Given the description of an element on the screen output the (x, y) to click on. 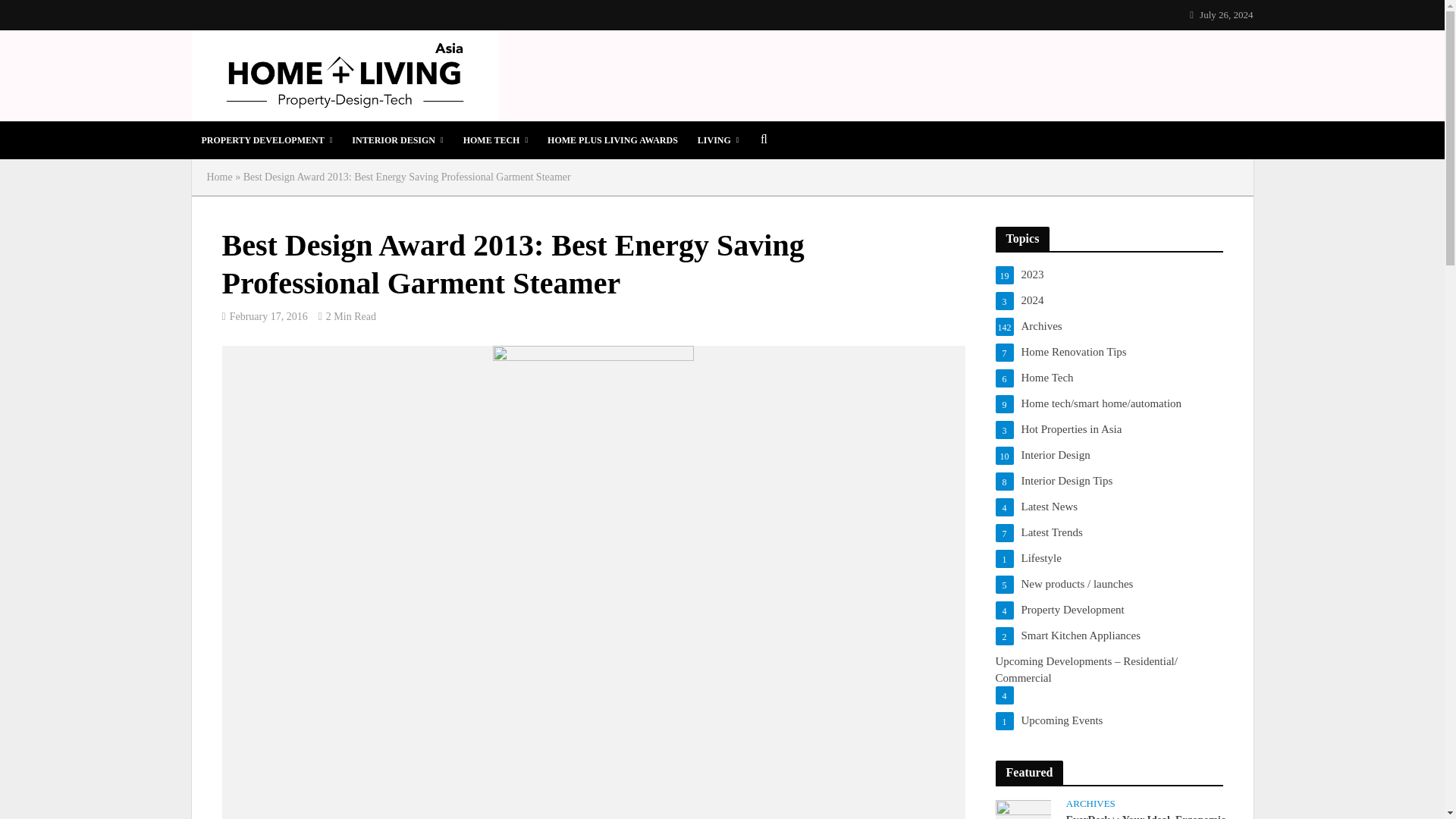
HOME PLUS LIVING AWARDS (612, 139)
PROPERTY DEVELOPMENT (266, 139)
LIVING (718, 139)
HOME TECH (494, 139)
INTERIOR DESIGN (397, 139)
